Given the description of an element on the screen output the (x, y) to click on. 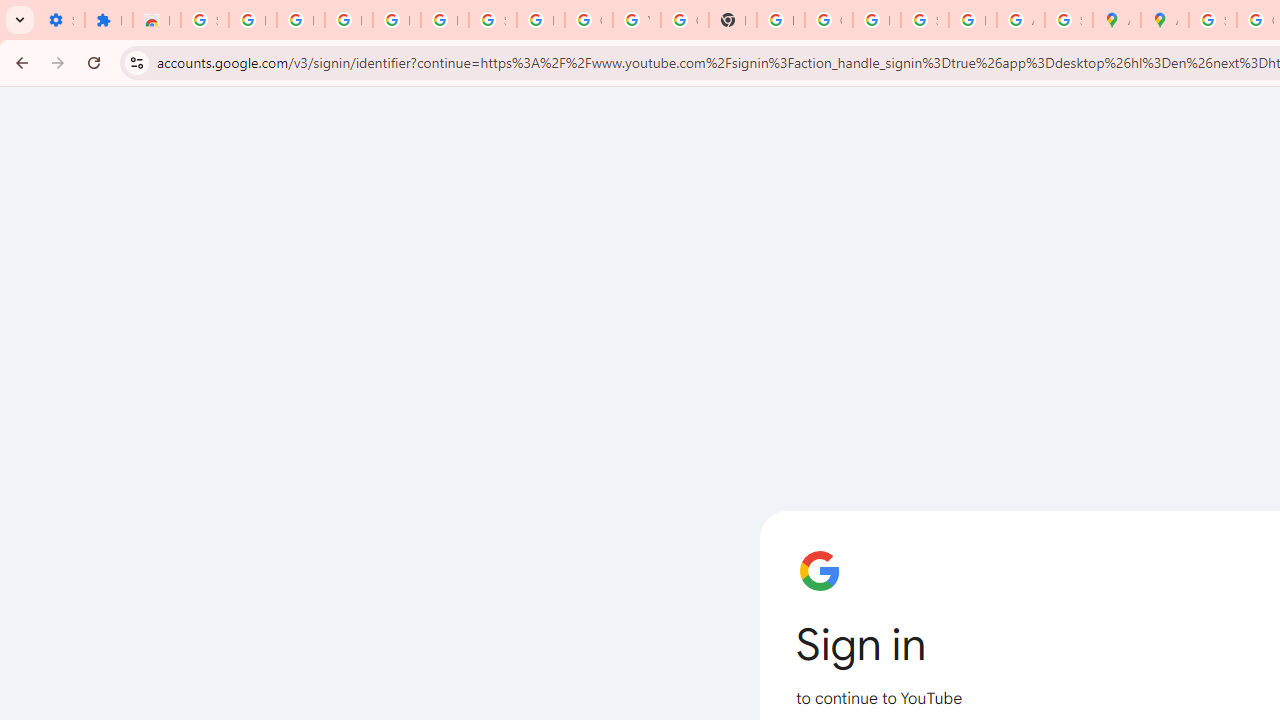
New Tab (732, 20)
Settings - On startup (60, 20)
Reviews: Helix Fruit Jump Arcade Game (156, 20)
Delete photos & videos - Computer - Google Photos Help (348, 20)
Sign in - Google Accounts (492, 20)
Learn how to find your photos - Google Photos Help (396, 20)
Safety in Our Products - Google Safety Center (1068, 20)
